Given the description of an element on the screen output the (x, y) to click on. 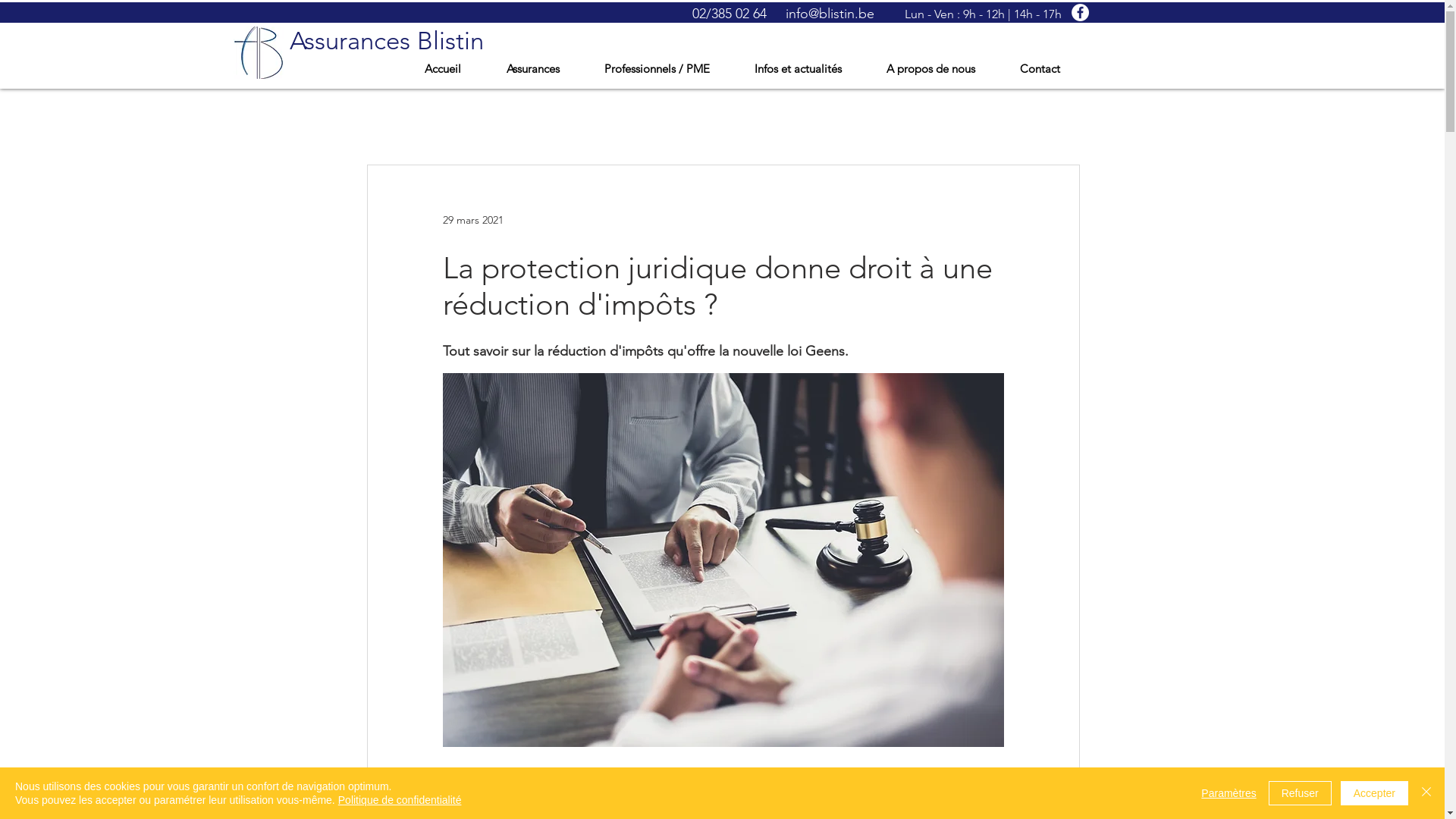
Accepter Element type: text (1374, 793)
Refuser Element type: text (1299, 793)
02/385 02 64     info@blistin.be Element type: text (782, 13)
Professionnels / PME Element type: text (668, 68)
Visitor Analytics Element type: hover (1442, 4)
Assurances Blistin Element type: text (386, 40)
Contact Element type: text (1050, 68)
A propos de nous Element type: text (941, 68)
Lun - Ven : 9h - 12h | 14h - 17h Element type: text (982, 13)
Visitor Analytics Element type: hover (1442, 4)
Accueil Element type: text (453, 68)
